Given the description of an element on the screen output the (x, y) to click on. 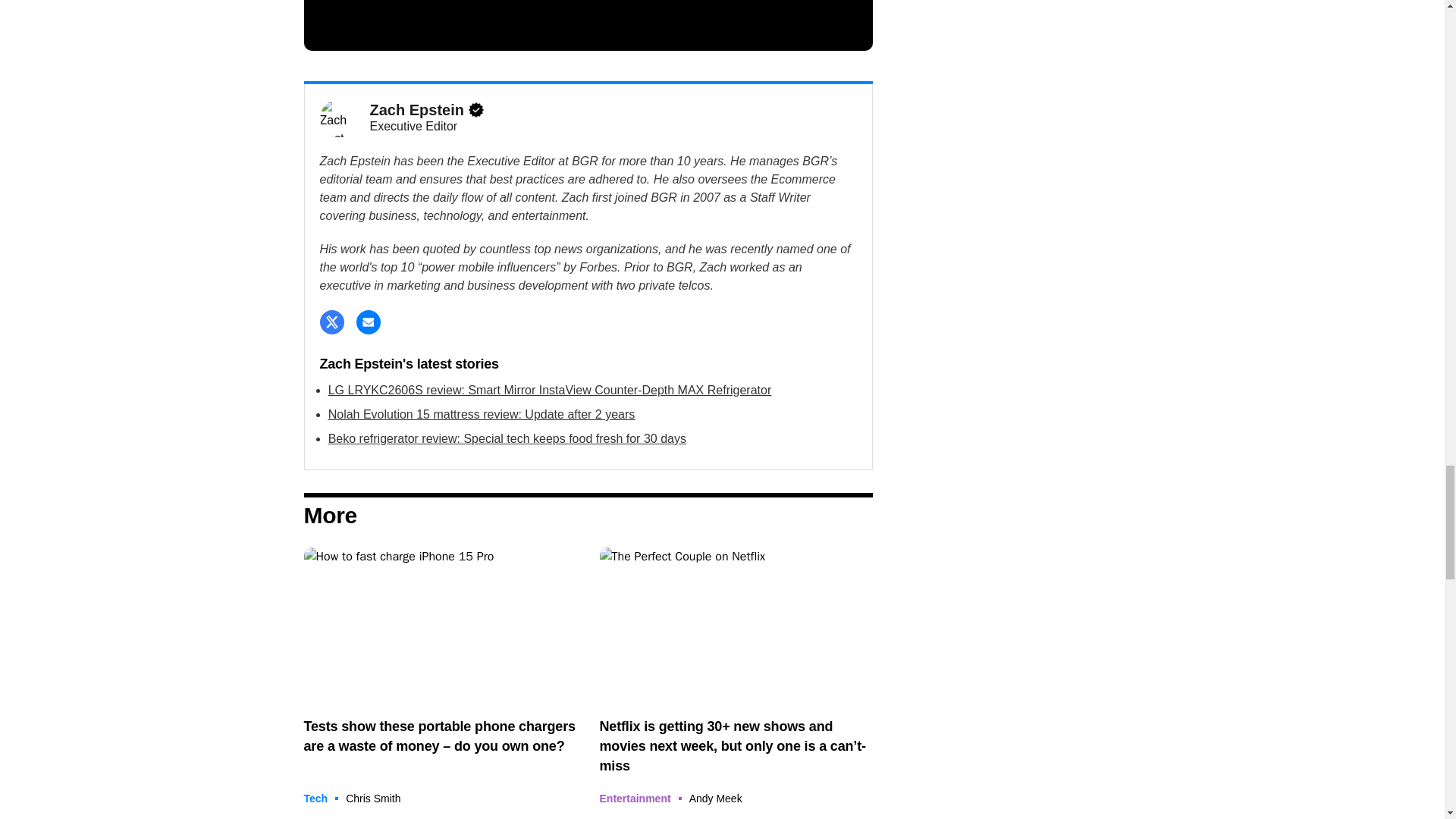
Posts by Chris Smith (373, 798)
Portable Phone Chargers (439, 624)
Zach Epstein (339, 118)
Posts by Andy Meek (715, 798)
Netflix (735, 624)
